Given the description of an element on the screen output the (x, y) to click on. 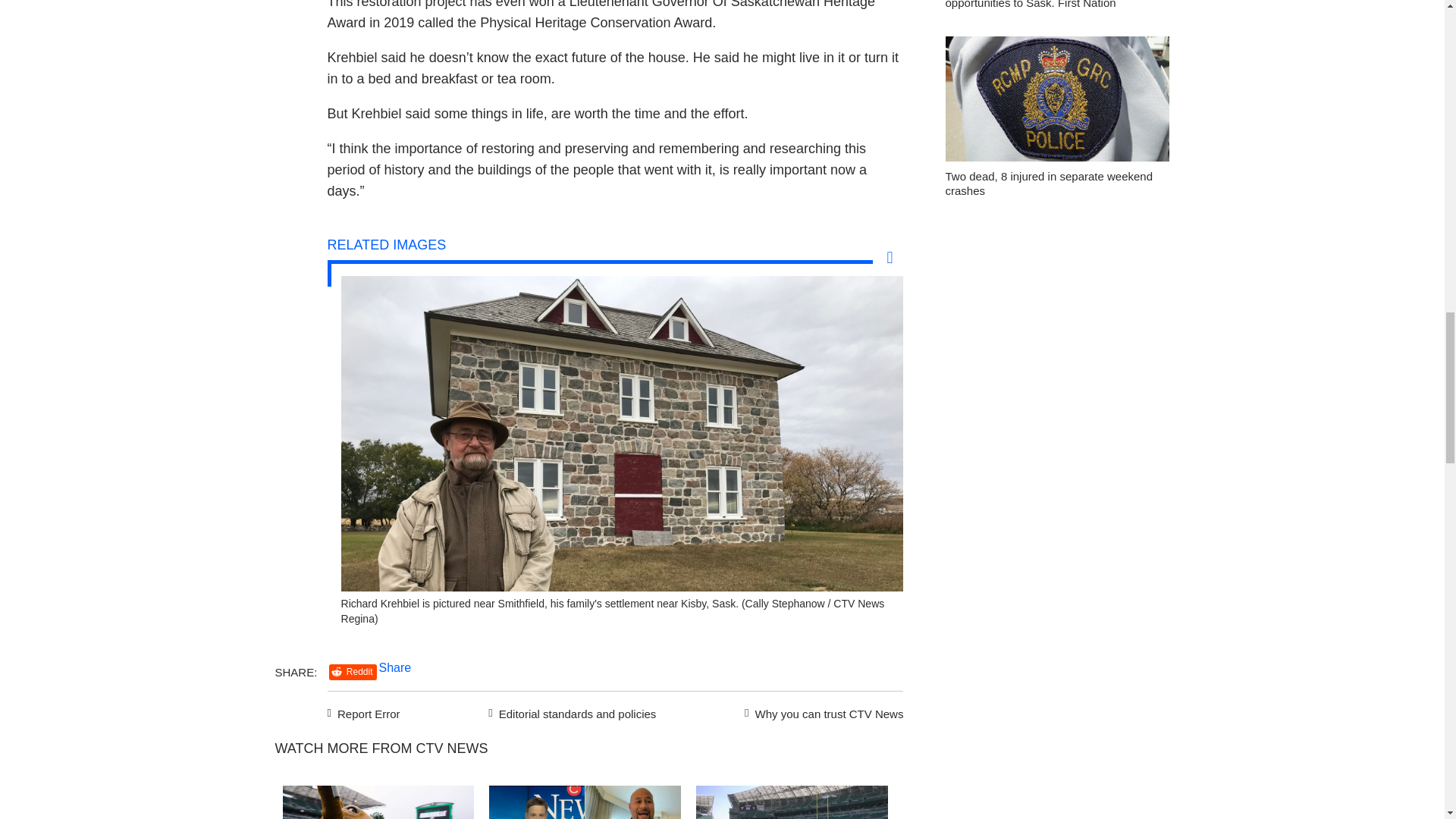
Amazing Race episode to feature Regina (378, 802)
false (585, 802)
Share (395, 667)
Editorial standards and policies (569, 712)
Smithfield (622, 586)
Report Error (363, 712)
Why you can trust CTV News (820, 712)
Reddit (353, 672)
false (378, 802)
false (791, 802)
Riders to make roster changes (791, 802)
